Given the description of an element on the screen output the (x, y) to click on. 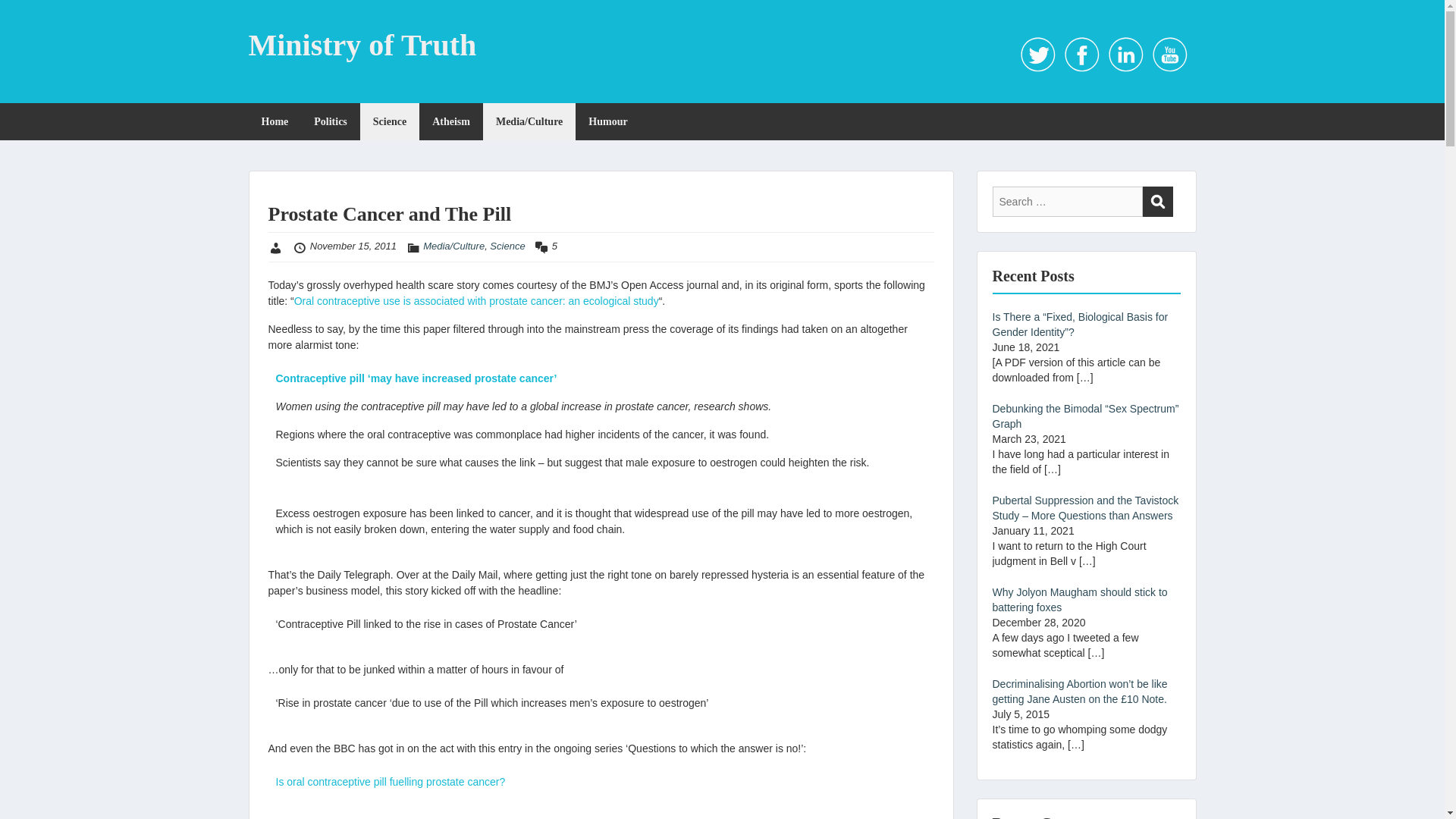
Politics (330, 121)
Atheism (451, 121)
Humour (607, 121)
Science (506, 245)
Search (1156, 201)
Ministry of Truth (362, 44)
Is oral contraceptive pill fuelling prostate cancer? (390, 781)
Home (274, 121)
Science (389, 121)
Search for: (1066, 201)
Search (1156, 201)
